Given the description of an element on the screen output the (x, y) to click on. 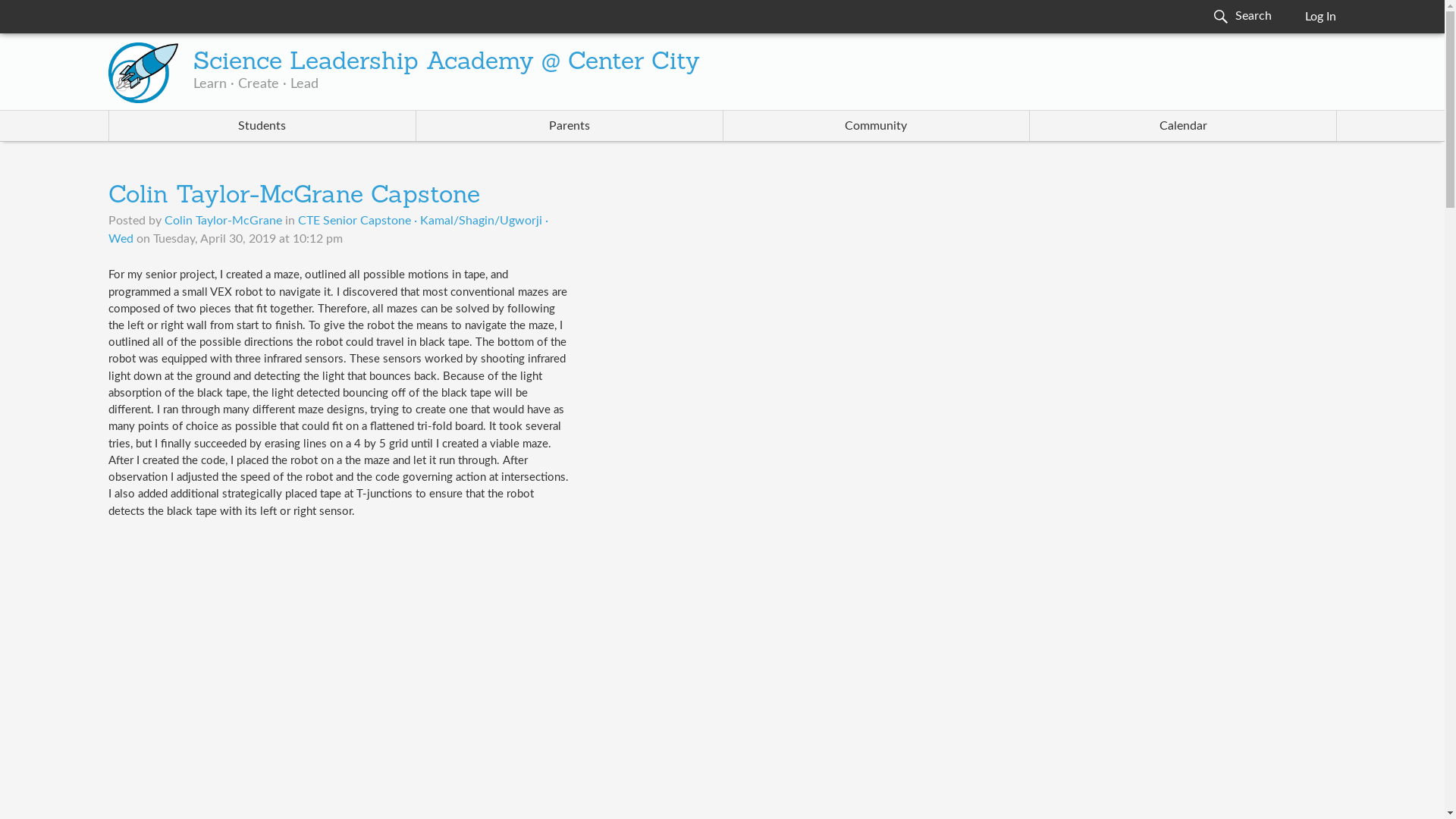
Calendar (1182, 125)
Parents (569, 125)
Calendar (1182, 125)
Colin Taylor-McGrane (223, 220)
Colin Taylor-McGrane Capstone (293, 196)
Community (876, 125)
Parents (569, 125)
Community (876, 125)
Log In (1320, 16)
Students (261, 125)
